Given the description of an element on the screen output the (x, y) to click on. 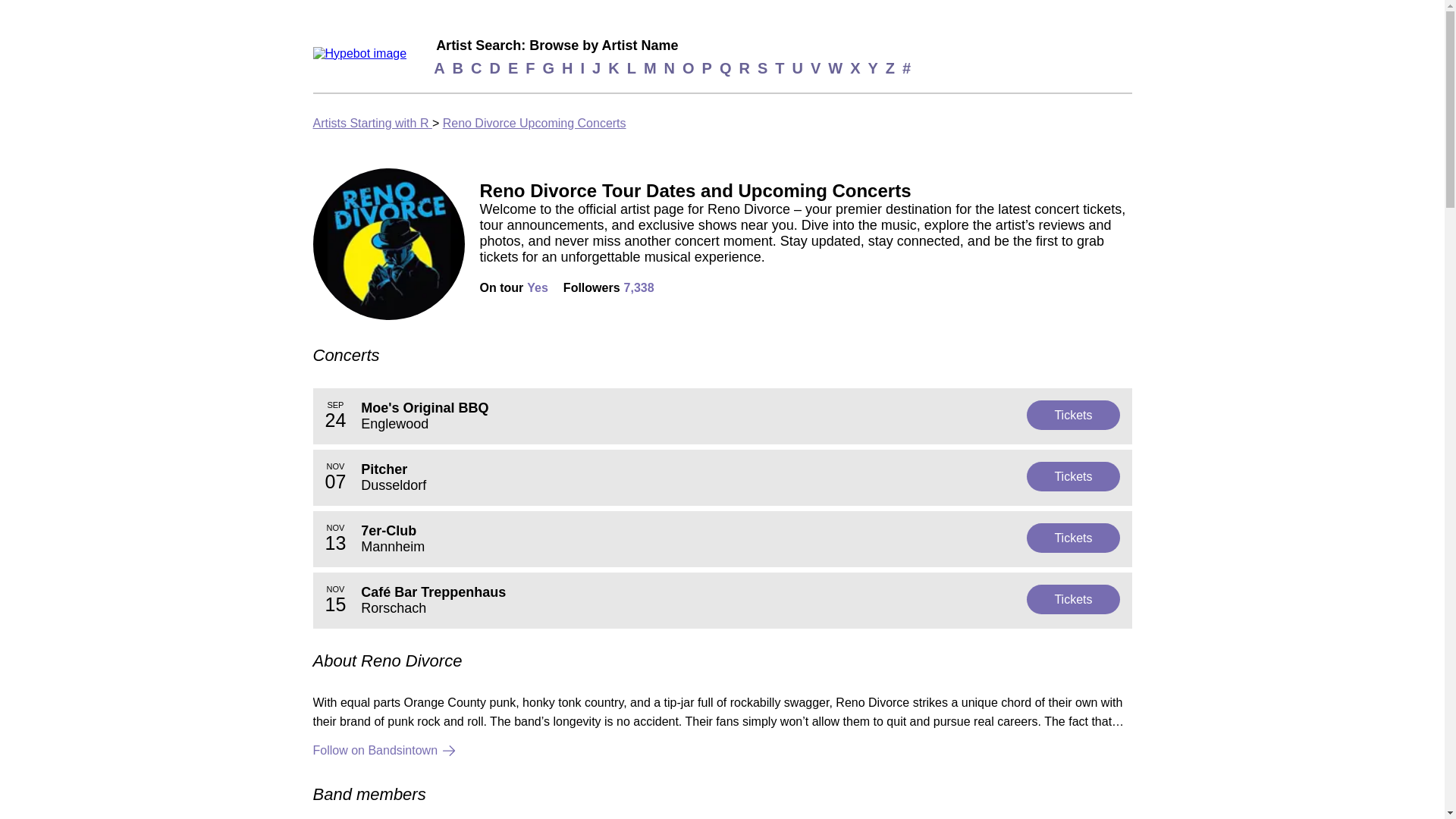
Follow on Bandsintown (722, 750)
Artists Starting with R (371, 123)
Reno Divorce Upcoming Concerts (722, 539)
